Given the description of an element on the screen output the (x, y) to click on. 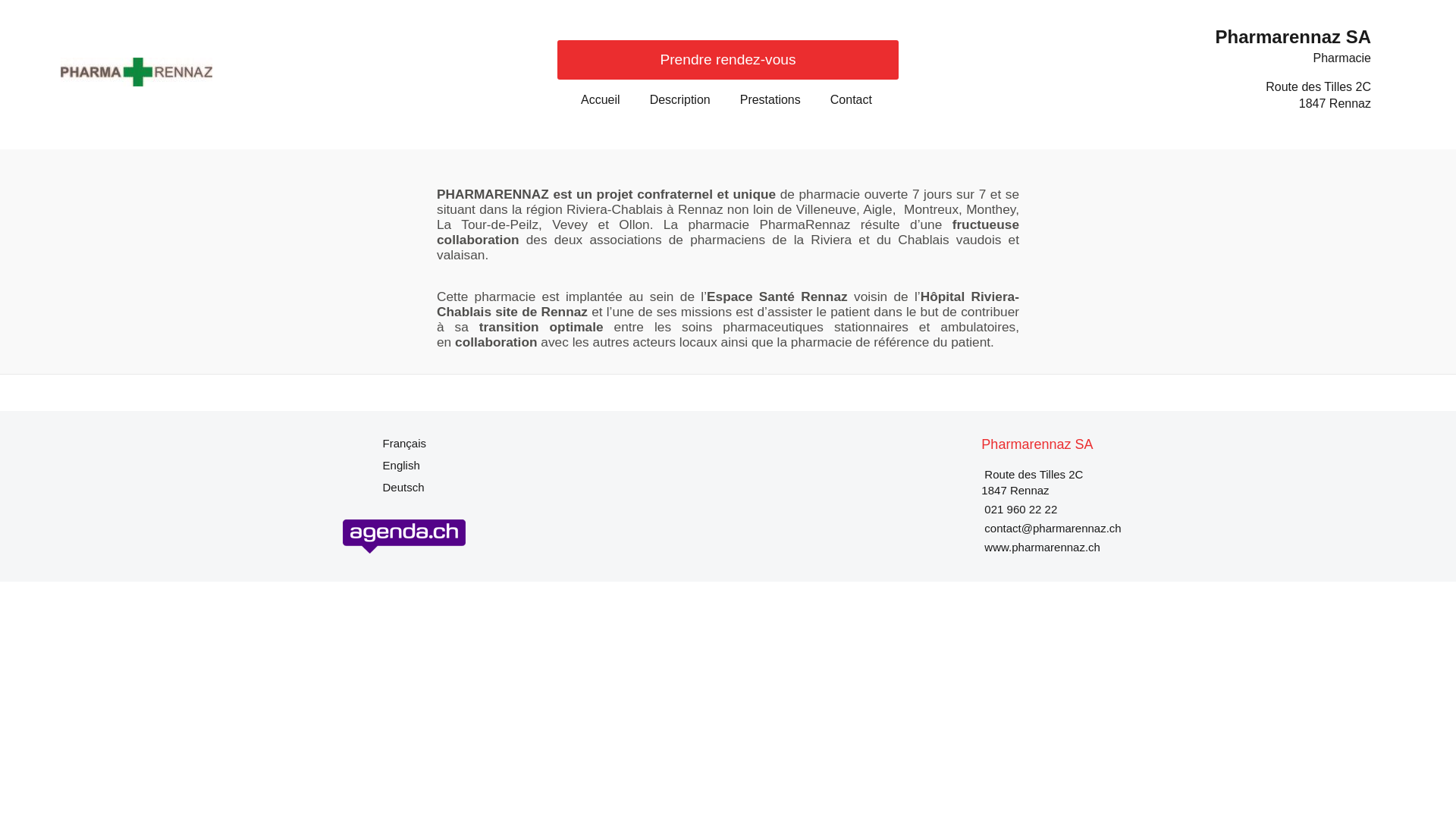
021 960 22 22 Element type: text (1020, 508)
Route des Tilles 2C
1847 Rennaz Element type: text (1318, 94)
contact@pharmarennaz.ch Element type: text (1052, 527)
Description Element type: text (679, 99)
Contact Element type: text (851, 99)
Prestations Element type: text (770, 99)
Deutsch Element type: text (403, 486)
Accueil Element type: text (600, 99)
www.pharmarennaz.ch Element type: text (1042, 546)
English Element type: text (401, 464)
Prendre rendez-vous Element type: text (727, 59)
